Given the description of an element on the screen output the (x, y) to click on. 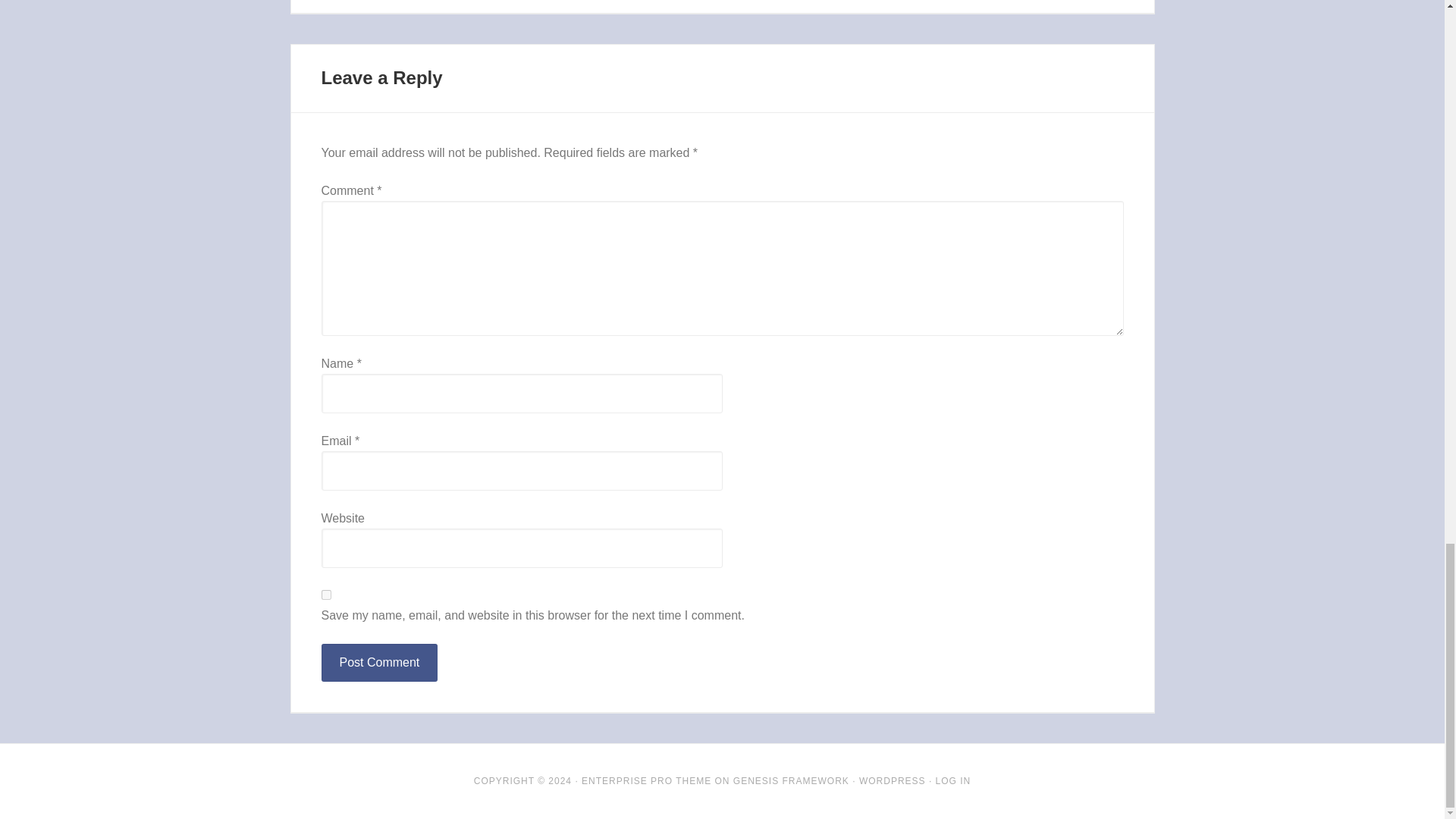
ENTERPRISE PRO THEME (645, 780)
Post Comment (379, 662)
Post Comment (379, 662)
WORDPRESS (892, 780)
LOG IN (953, 780)
GENESIS FRAMEWORK (790, 780)
yes (326, 594)
